Given the description of an element on the screen output the (x, y) to click on. 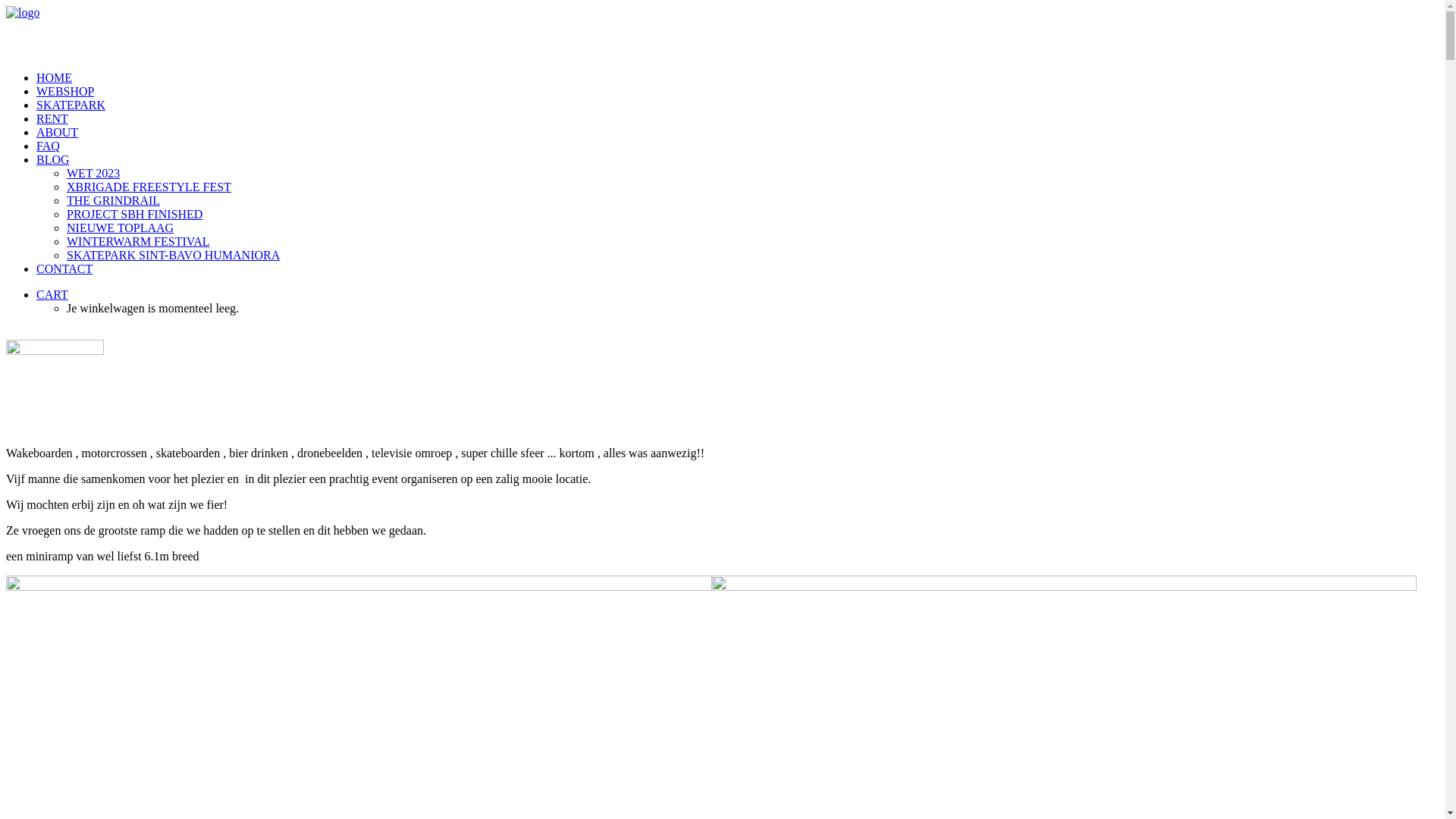
WINTERWARM FESTIVAL Element type: text (752, 241)
NIEUWE TOPLAAG Element type: text (752, 228)
SKATEPARK SINT-BAVO HUMANIORA Element type: text (752, 255)
SKATEPARK Element type: text (70, 104)
HOME Element type: text (54, 77)
BLOG Element type: text (52, 159)
RENT Element type: text (52, 118)
FAQ Element type: text (47, 145)
ABOUT Element type: text (57, 131)
WEBSHOP Element type: text (65, 90)
THE GRINDRAIL Element type: text (752, 200)
PROJECT SBH FINISHED Element type: text (752, 214)
WET 2023 Element type: text (752, 173)
XBRIGADE FREESTYLE FEST Element type: text (752, 187)
CART Element type: text (52, 294)
CONTACT Element type: text (64, 268)
